Given the description of an element on the screen output the (x, y) to click on. 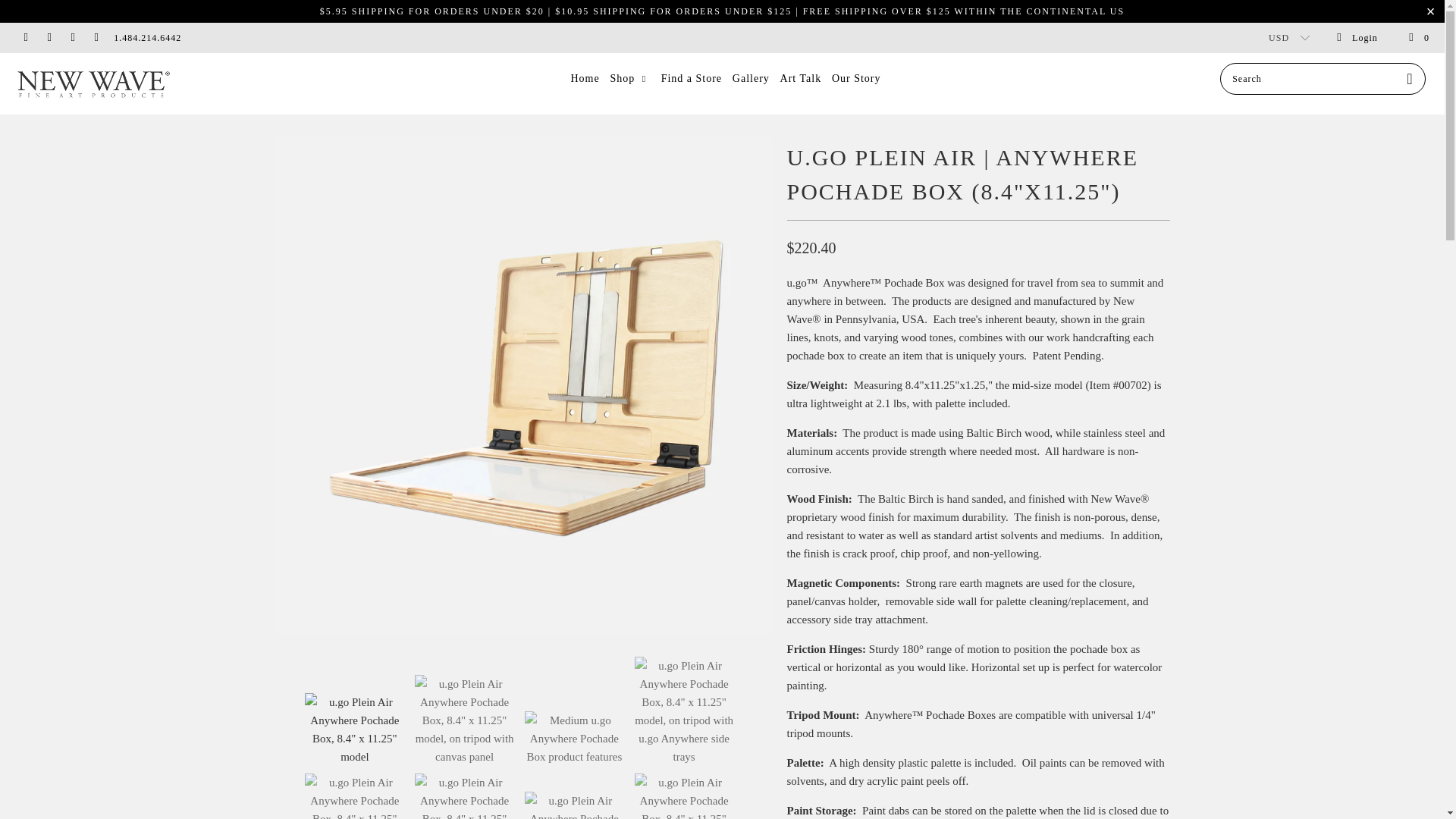
New Wave Art on YouTube (71, 37)
New Wave Art on Instagram (94, 37)
New Wave Art (122, 83)
New Wave Art on Twitter (25, 37)
New Wave Art on Facebook (48, 37)
My Account  (1356, 37)
